Given the description of an element on the screen output the (x, y) to click on. 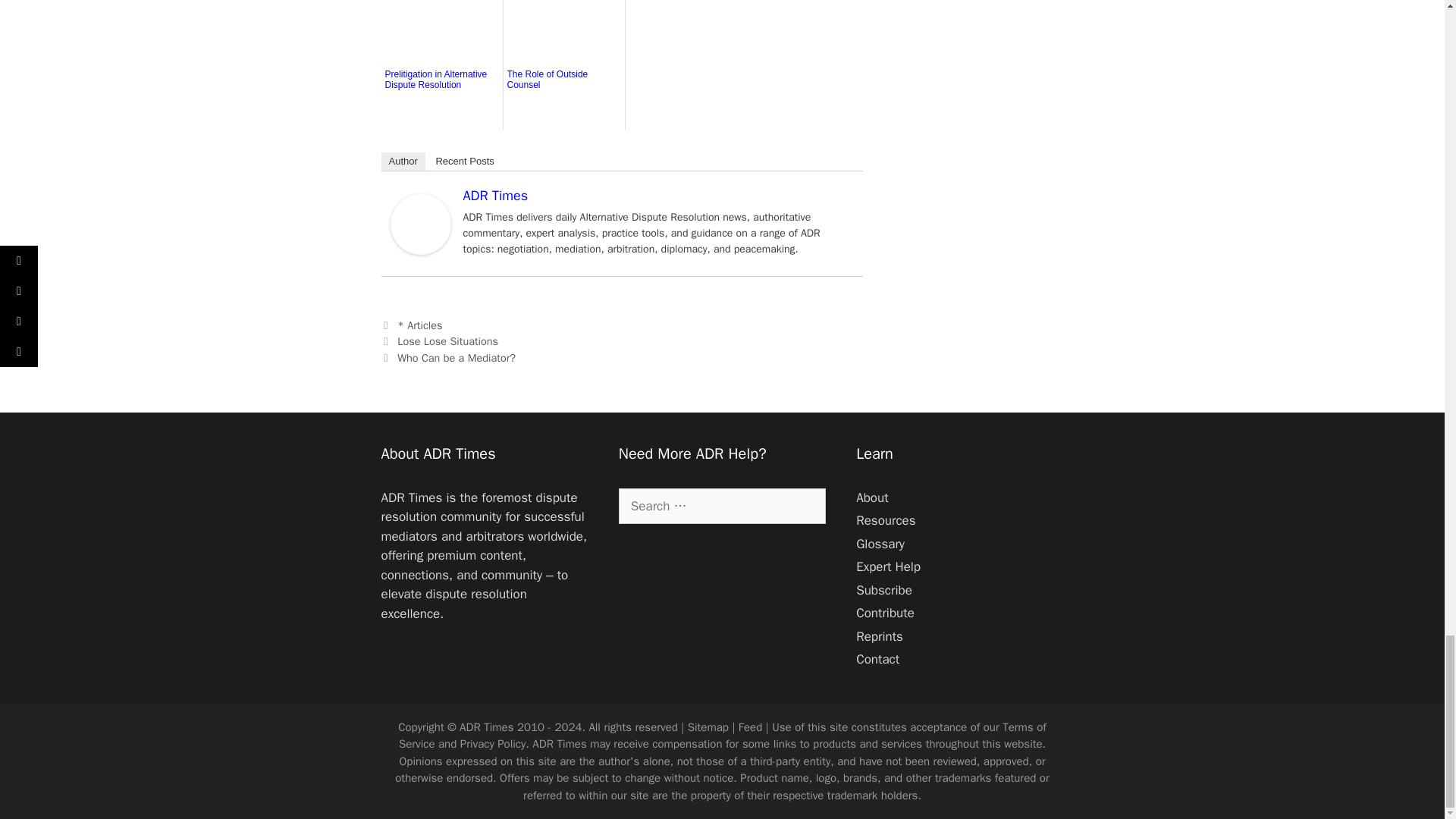
ADR Times (495, 195)
The Role of Outside Counsel  (563, 97)
Who Can be a Mediator? (456, 357)
About (872, 497)
Lose Lose Situations (447, 341)
Resources (885, 520)
Recent Posts (464, 161)
Author (402, 161)
Prelitigation in Alternative Dispute Resolution (442, 97)
ADR Times (419, 250)
